Given the description of an element on the screen output the (x, y) to click on. 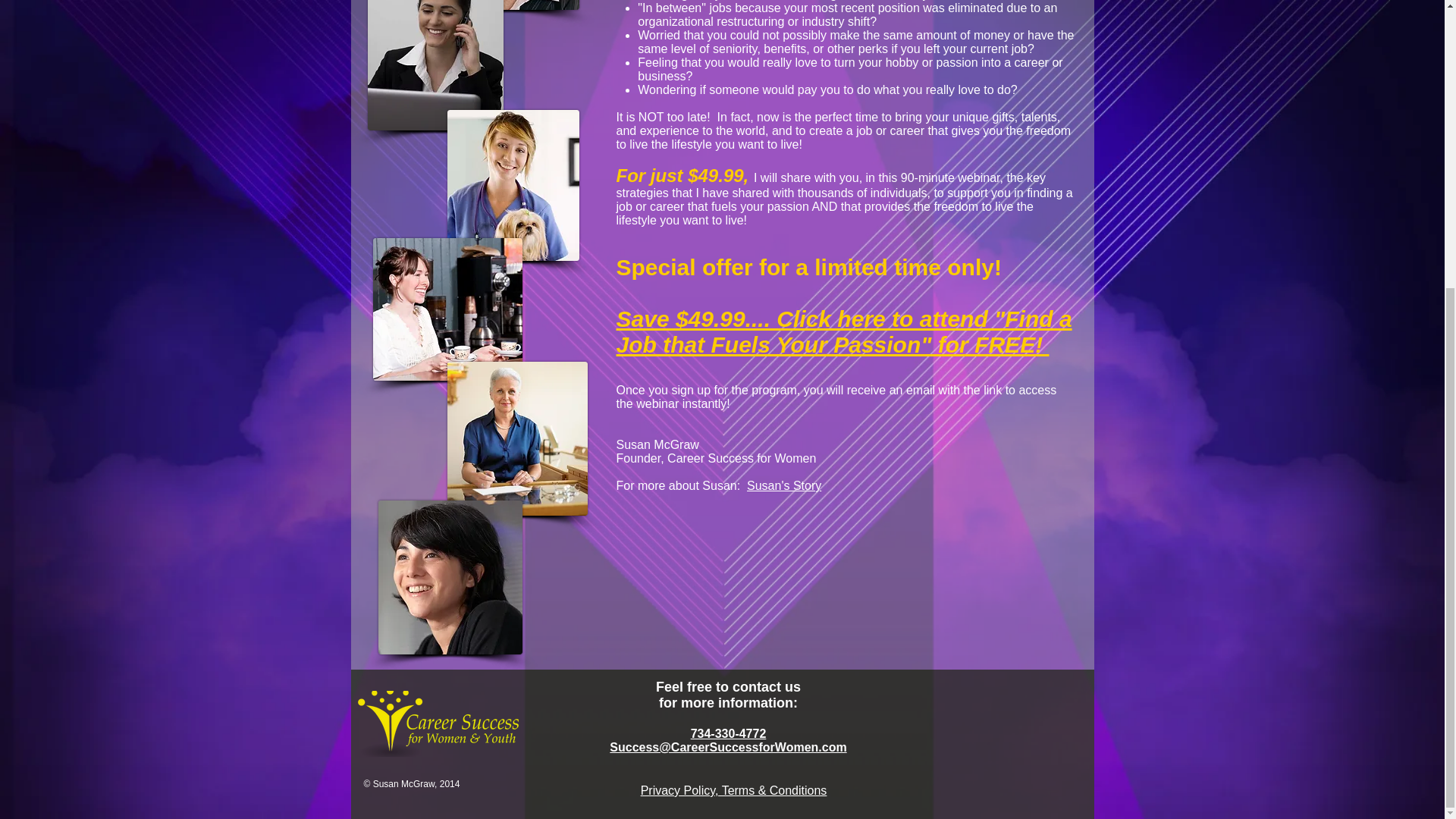
Yellow logo.png (438, 723)
734-330-4772 (728, 733)
Susan's Story (783, 485)
